Given the description of an element on the screen output the (x, y) to click on. 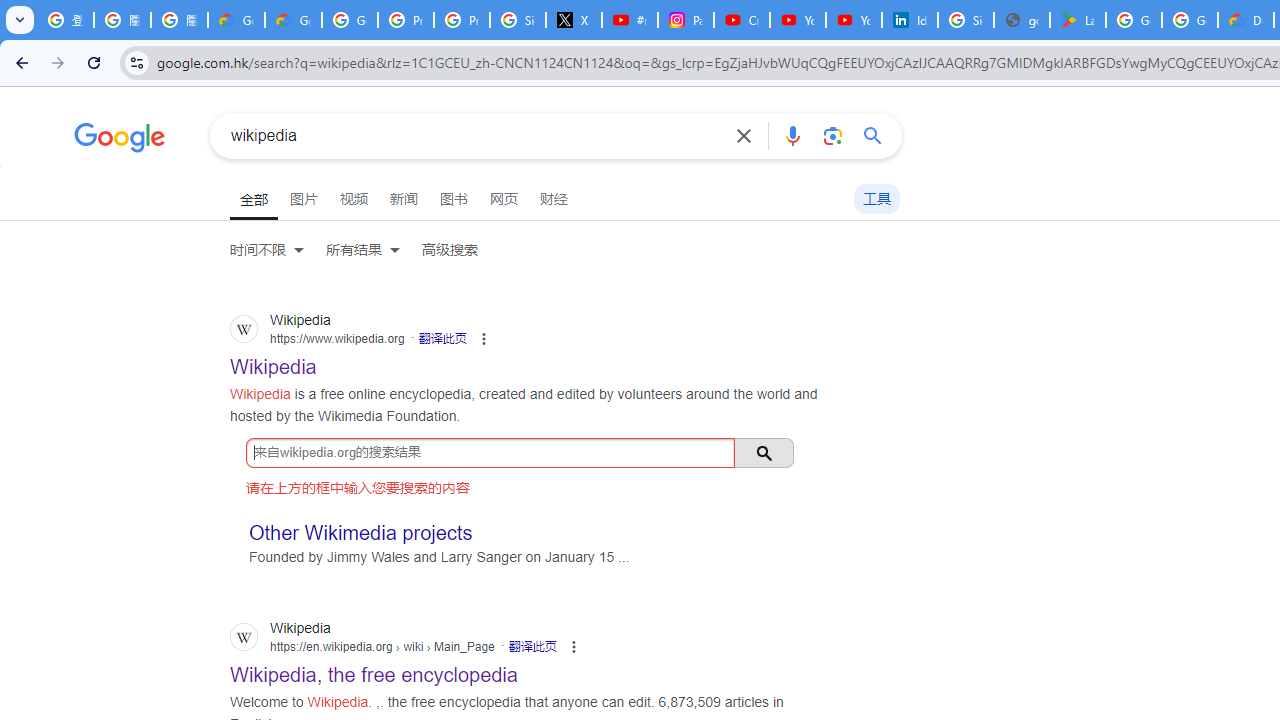
Google Cloud Privacy Notice (293, 20)
Privacy Help Center - Policies Help (461, 20)
Google Cloud Privacy Notice (235, 20)
